Given the description of an element on the screen output the (x, y) to click on. 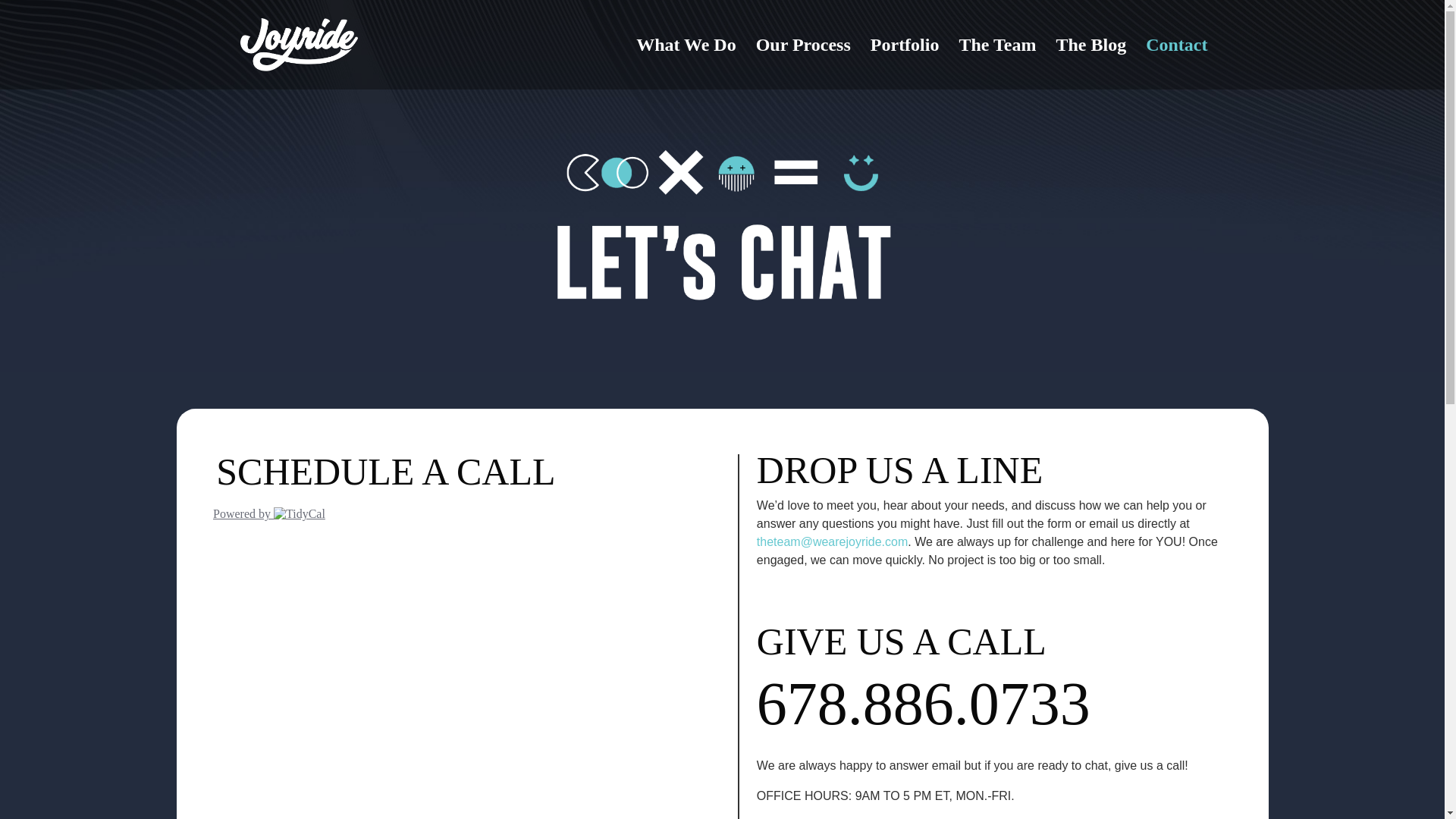
Contact (1176, 64)
Portfolio (904, 64)
Lets-Chat-Type (721, 230)
The Team (996, 64)
Our Process (802, 64)
What We Do (686, 64)
The Blog (1090, 64)
